Given the description of an element on the screen output the (x, y) to click on. 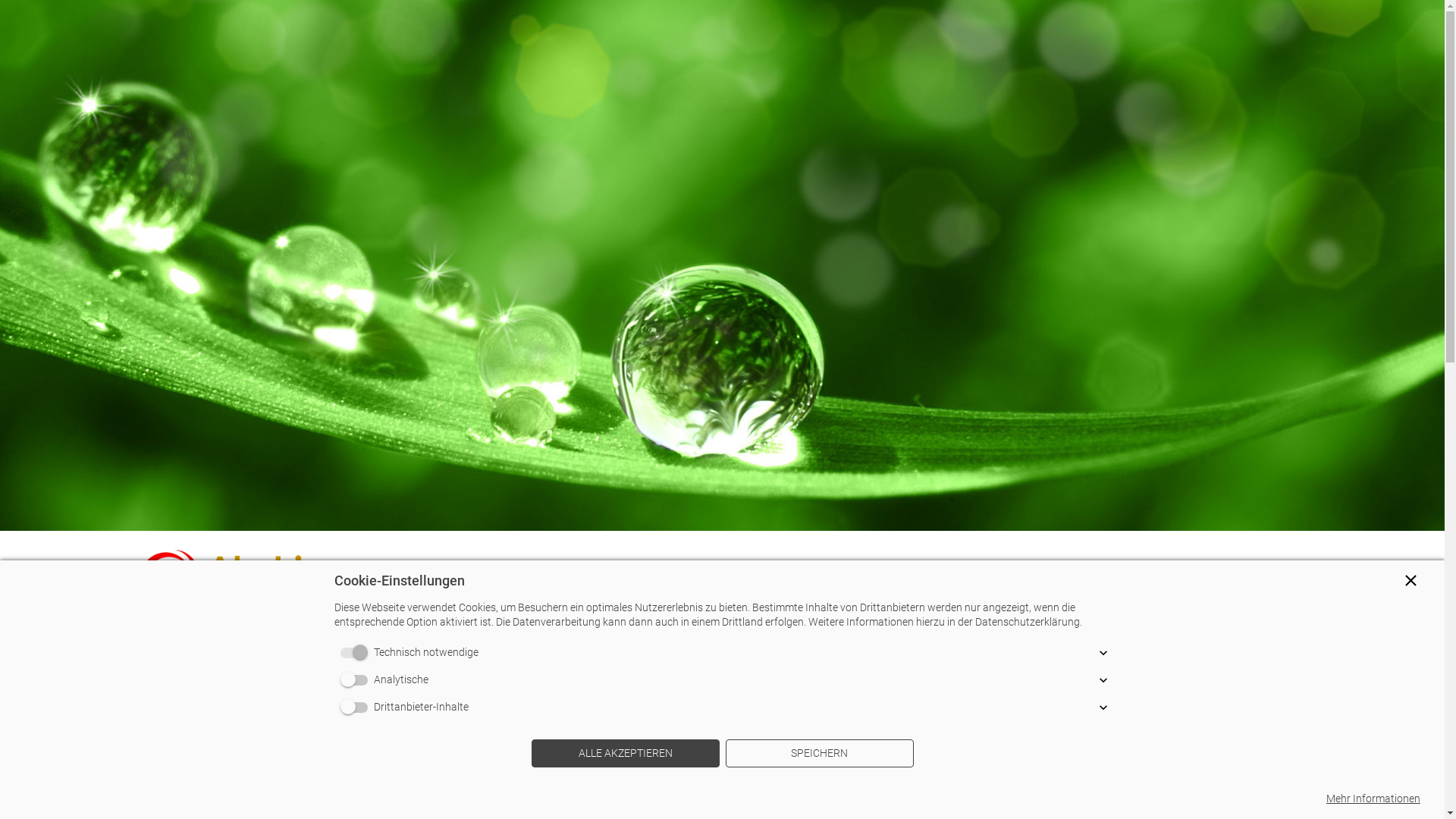
Home Element type: text (540, 575)
Zur Person Element type: text (618, 575)
Therapie Element type: text (794, 575)
Kontakt Element type: text (1079, 575)
ALLE AKZEPTIEREN Element type: text (624, 753)
SPEICHERN Element type: text (818, 753)
Mehr Informationen Element type: text (1373, 798)
Diagnose Element type: text (706, 575)
Indikation Element type: text (884, 575)
Krankenkassen Element type: text (986, 575)
